Given the description of an element on the screen output the (x, y) to click on. 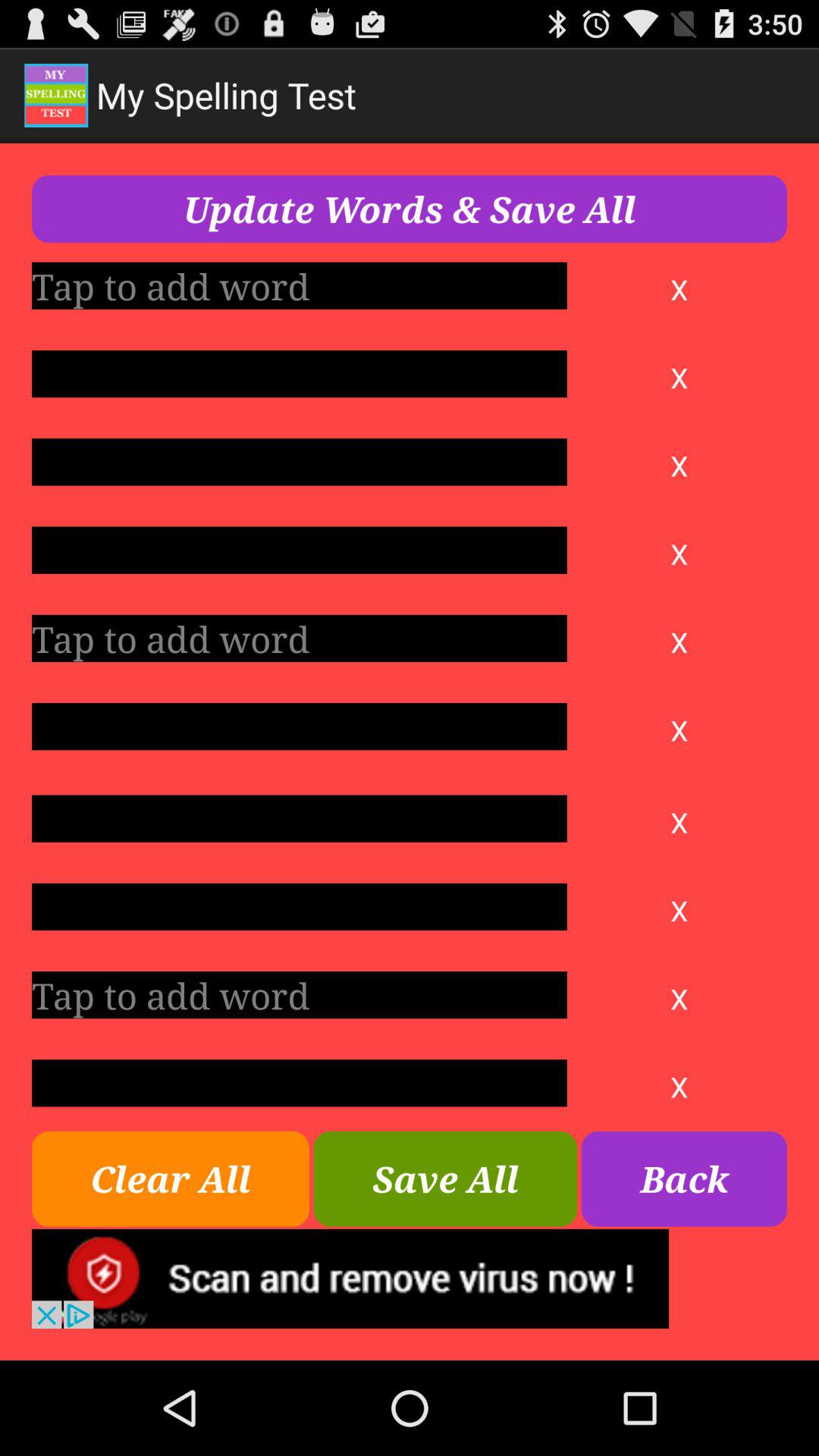
tap to add word (299, 638)
